Given the description of an element on the screen output the (x, y) to click on. 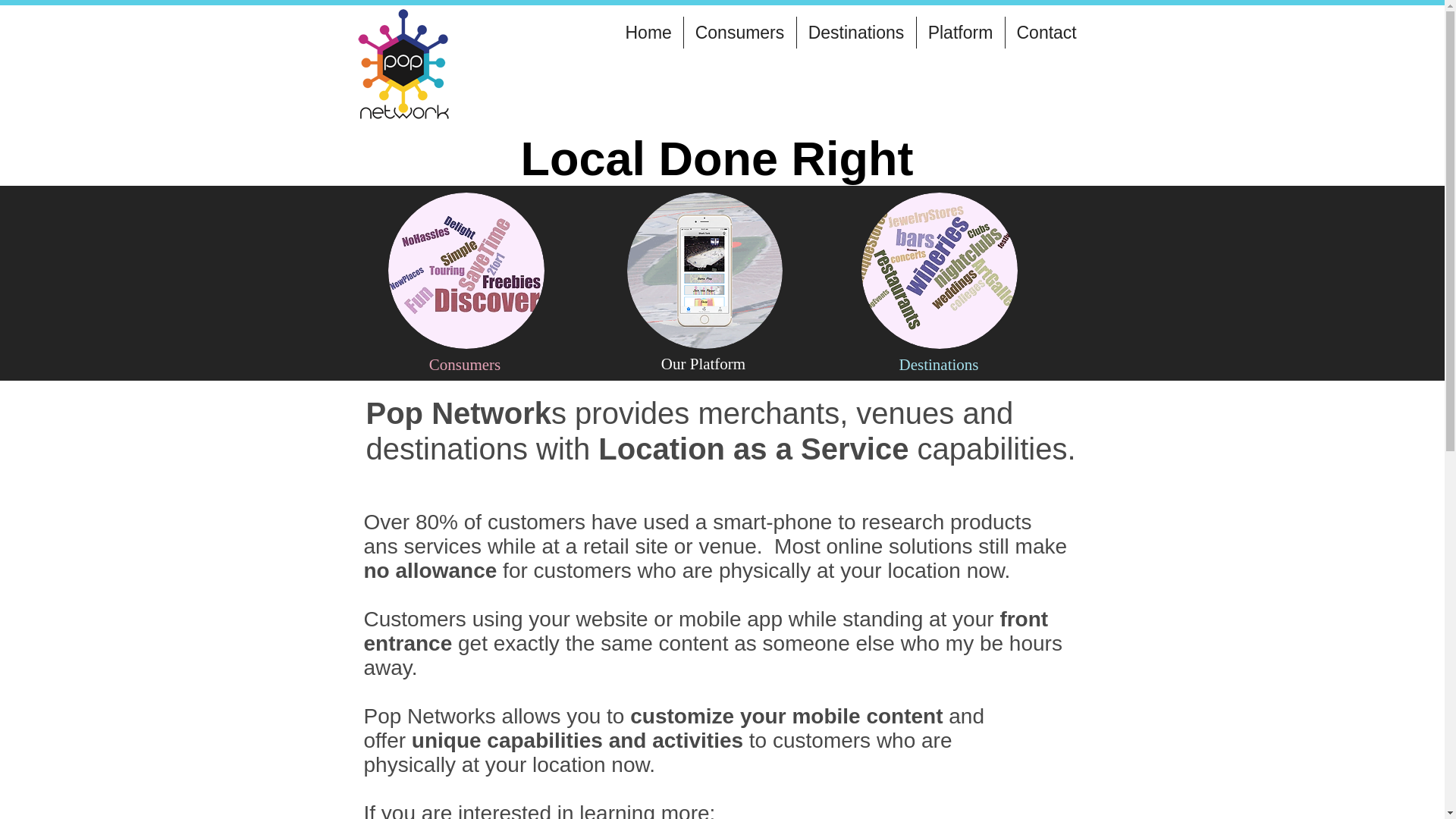
Consumers (740, 32)
Home (648, 32)
Contact (1046, 32)
Platform (959, 32)
Destinations (855, 32)
